Given the description of an element on the screen output the (x, y) to click on. 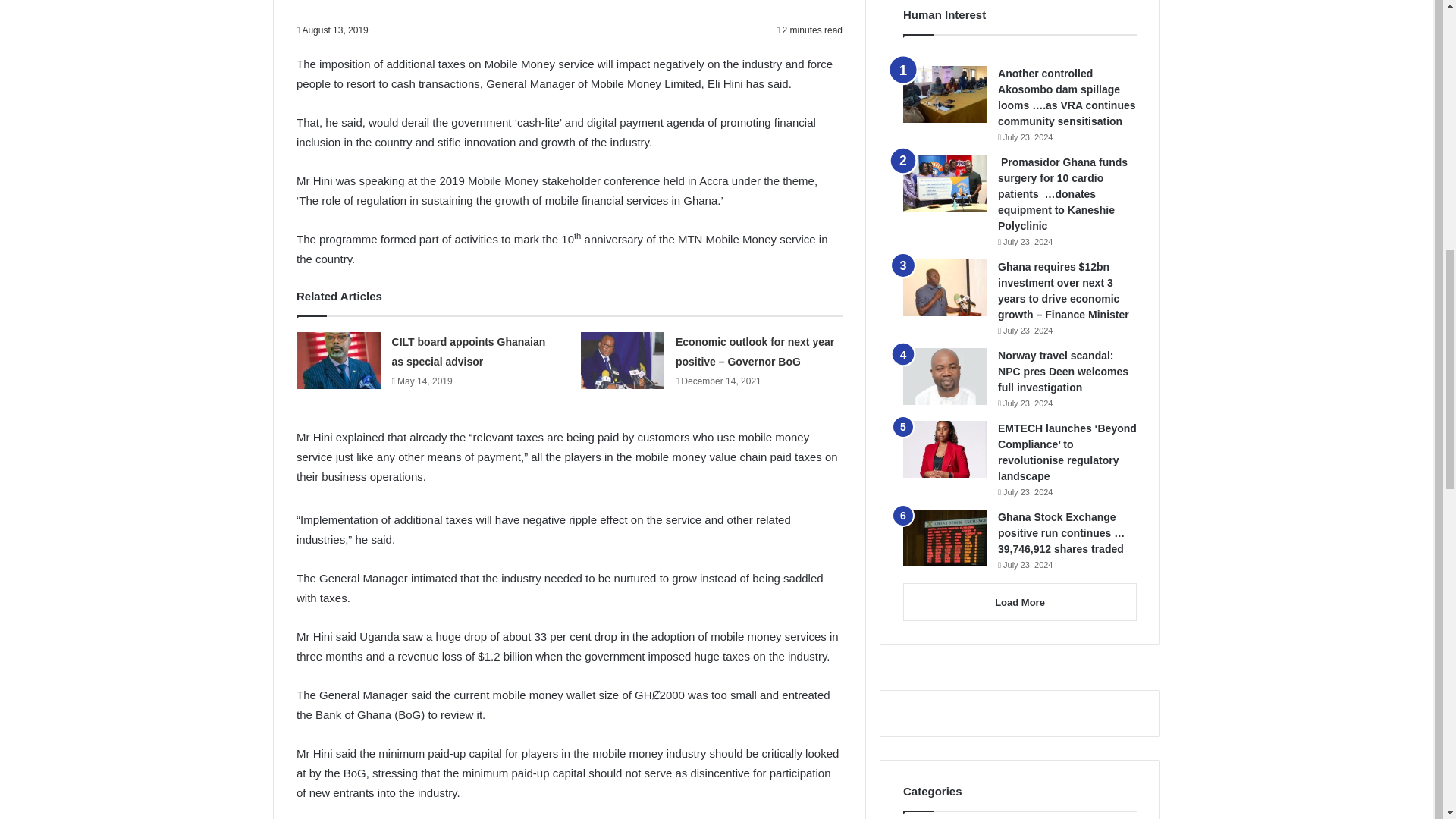
CILT board appoints Ghanaian as special advisor (468, 351)
